Given the description of an element on the screen output the (x, y) to click on. 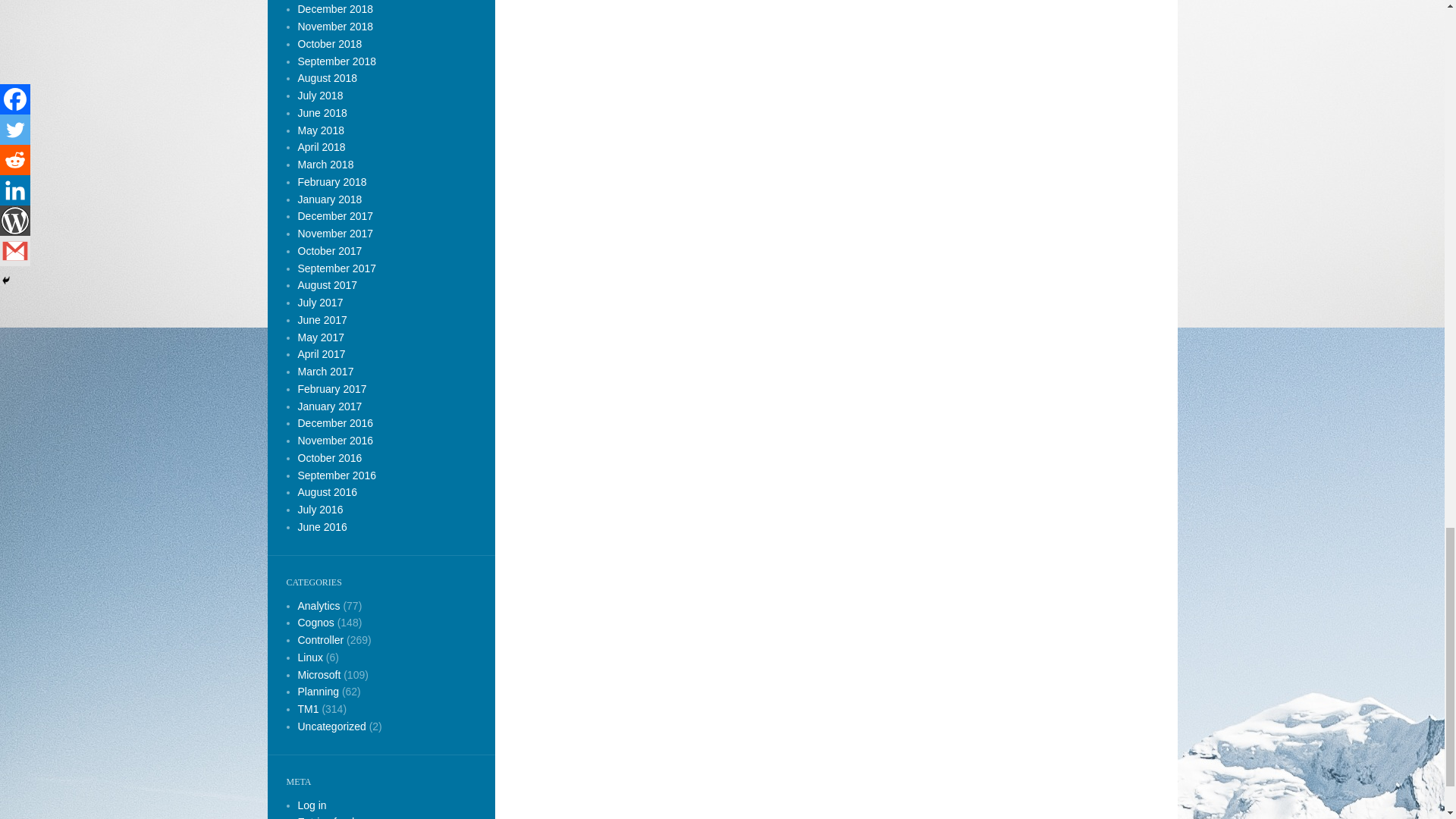
Information about Cognos TM1 (307, 708)
Information about Cognos Controller (320, 639)
Information about Cognos BI (315, 622)
IBM Cognos Business Intelligence  (318, 604)
Information about Cognos Planning (318, 691)
